Given the description of an element on the screen output the (x, y) to click on. 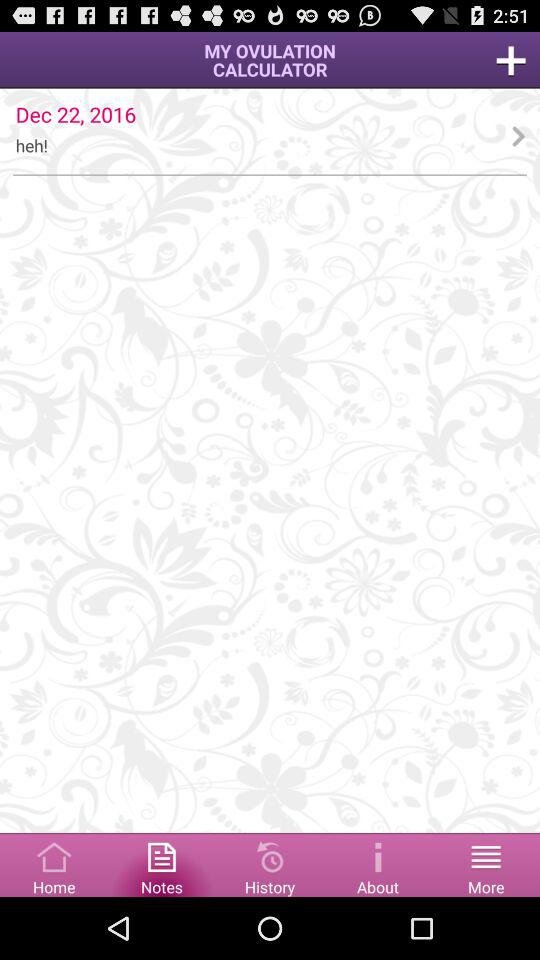
see more information (378, 864)
